Given the description of an element on the screen output the (x, y) to click on. 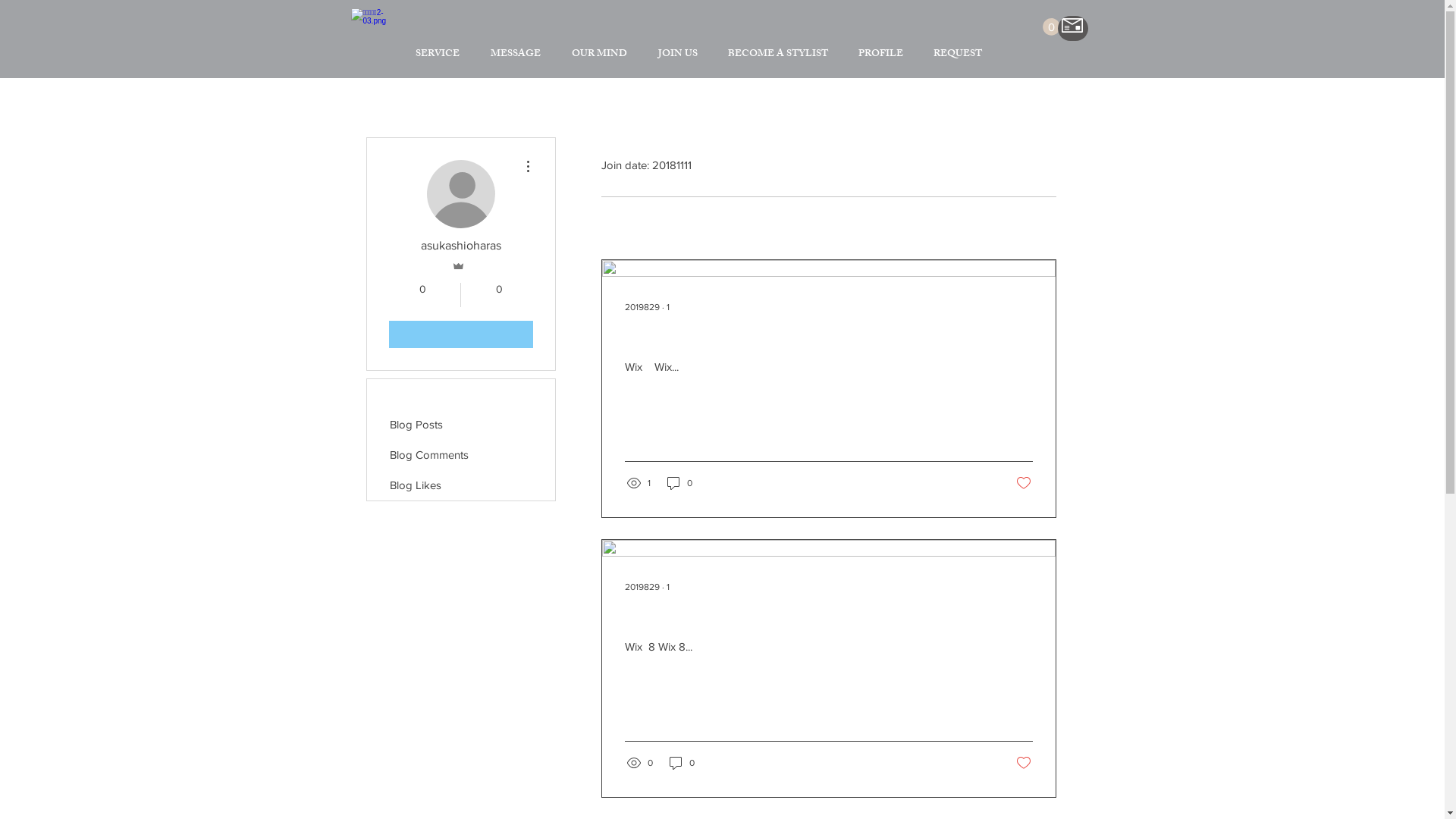
REQUEST Element type: text (956, 54)
Blog Comments Element type: text (461, 454)
0 Element type: text (1050, 26)
PROFILE Element type: text (880, 54)
OUR MIND Element type: text (599, 54)
0 Element type: text (421, 294)
Blog Likes Element type: text (461, 485)
BECOME A STYLIST Element type: text (777, 54)
Blog Posts Element type: text (461, 424)
MESSAGE Element type: text (514, 54)
SERVICE Element type: text (437, 54)
JOIN US Element type: text (677, 54)
0 Element type: text (499, 294)
